Given the description of an element on the screen output the (x, y) to click on. 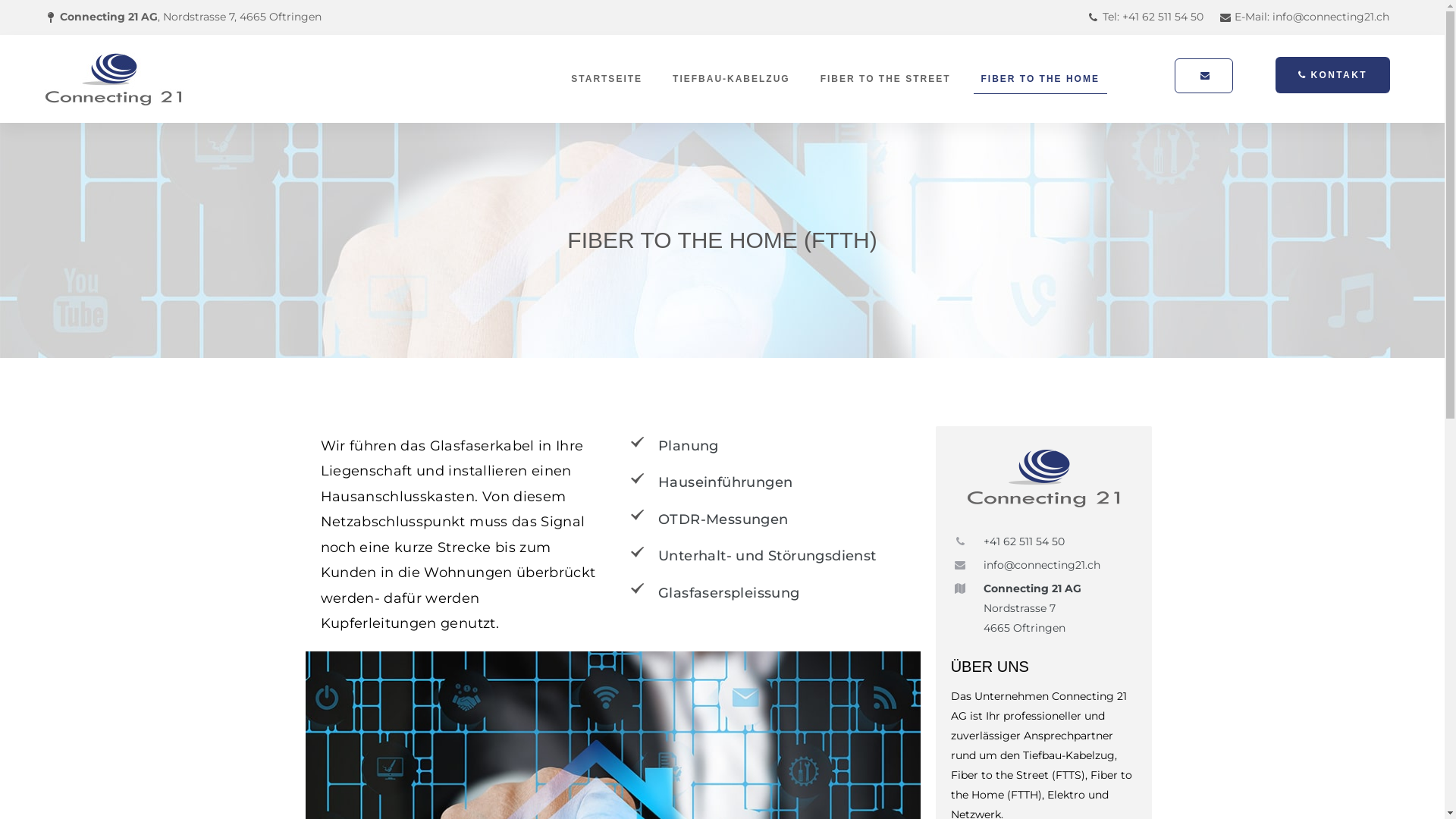
TIEFBAU-KABELZUG Element type: text (731, 78)
info@connecting21.ch Element type: text (1025, 565)
STARTSEITE Element type: text (606, 78)
Connecting 21 AG, Nordstrasse 7, 4665 Oftringen Element type: text (180, 17)
Tel: +41 62 511 54 50 Element type: text (1143, 17)
E-Mail: info@connecting21.ch Element type: text (1302, 17)
Connecting 21 AG
Nordstrasse 7
4665 Oftringen Element type: text (1015, 608)
+41 62 511 54 50 Element type: text (1007, 542)
KONTAKT Element type: text (1332, 74)
FIBER TO THE HOME Element type: text (1040, 78)
FIBER TO THE STREET Element type: text (885, 78)
